Given the description of an element on the screen output the (x, y) to click on. 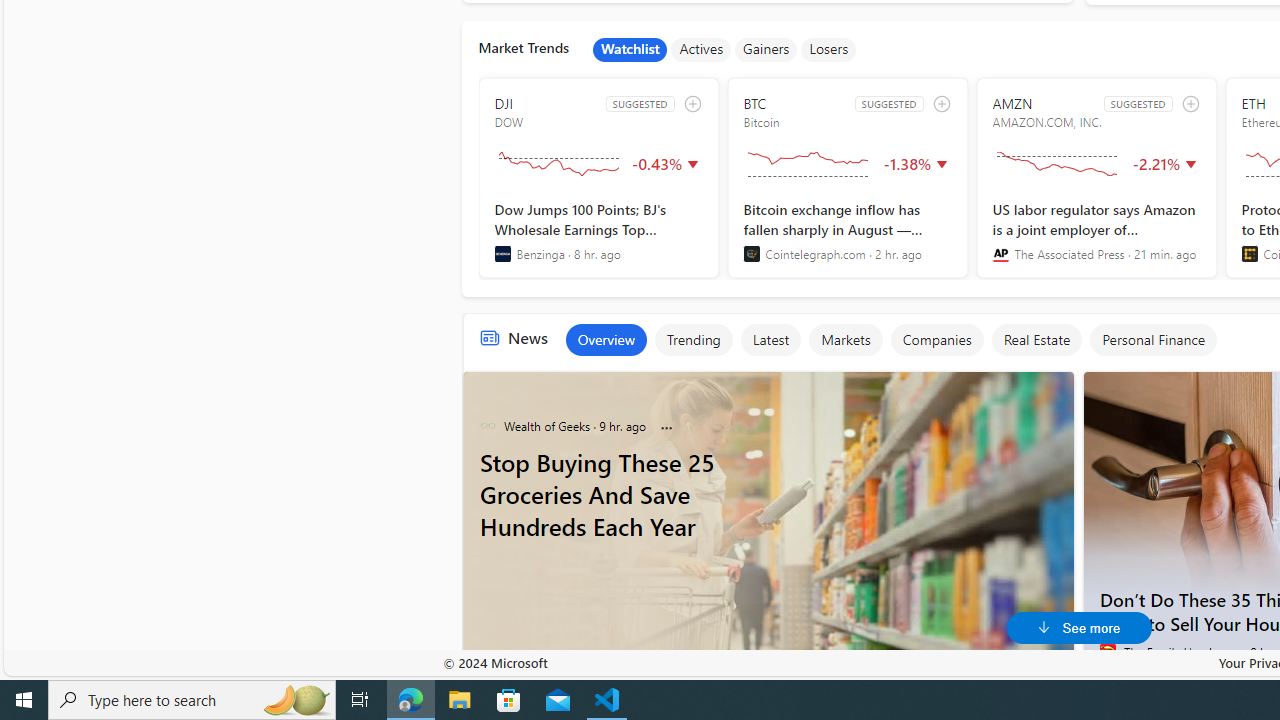
add to watchlist (1189, 103)
Gainers (765, 49)
